Given the description of an element on the screen output the (x, y) to click on. 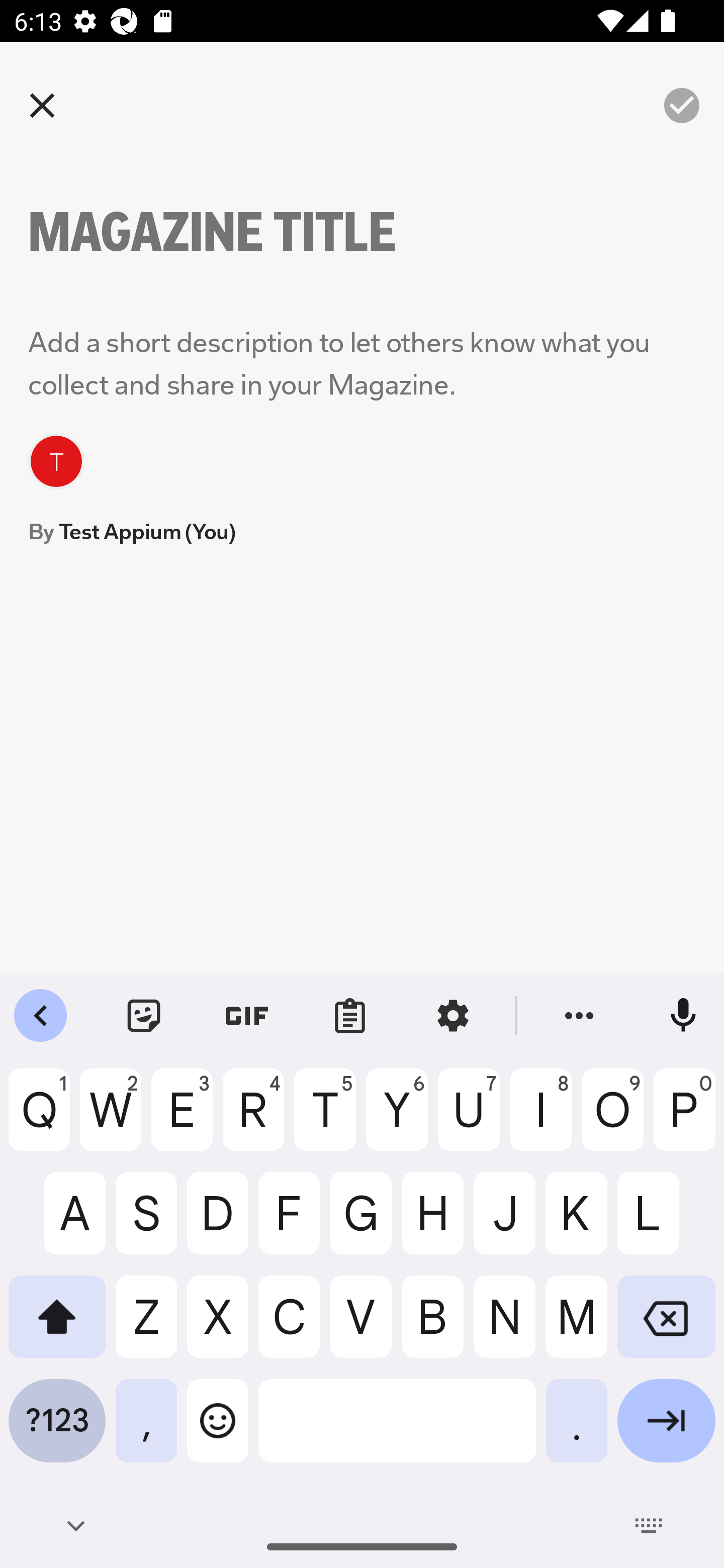
MAGAZINE TITLE (246, 231)
